Given the description of an element on the screen output the (x, y) to click on. 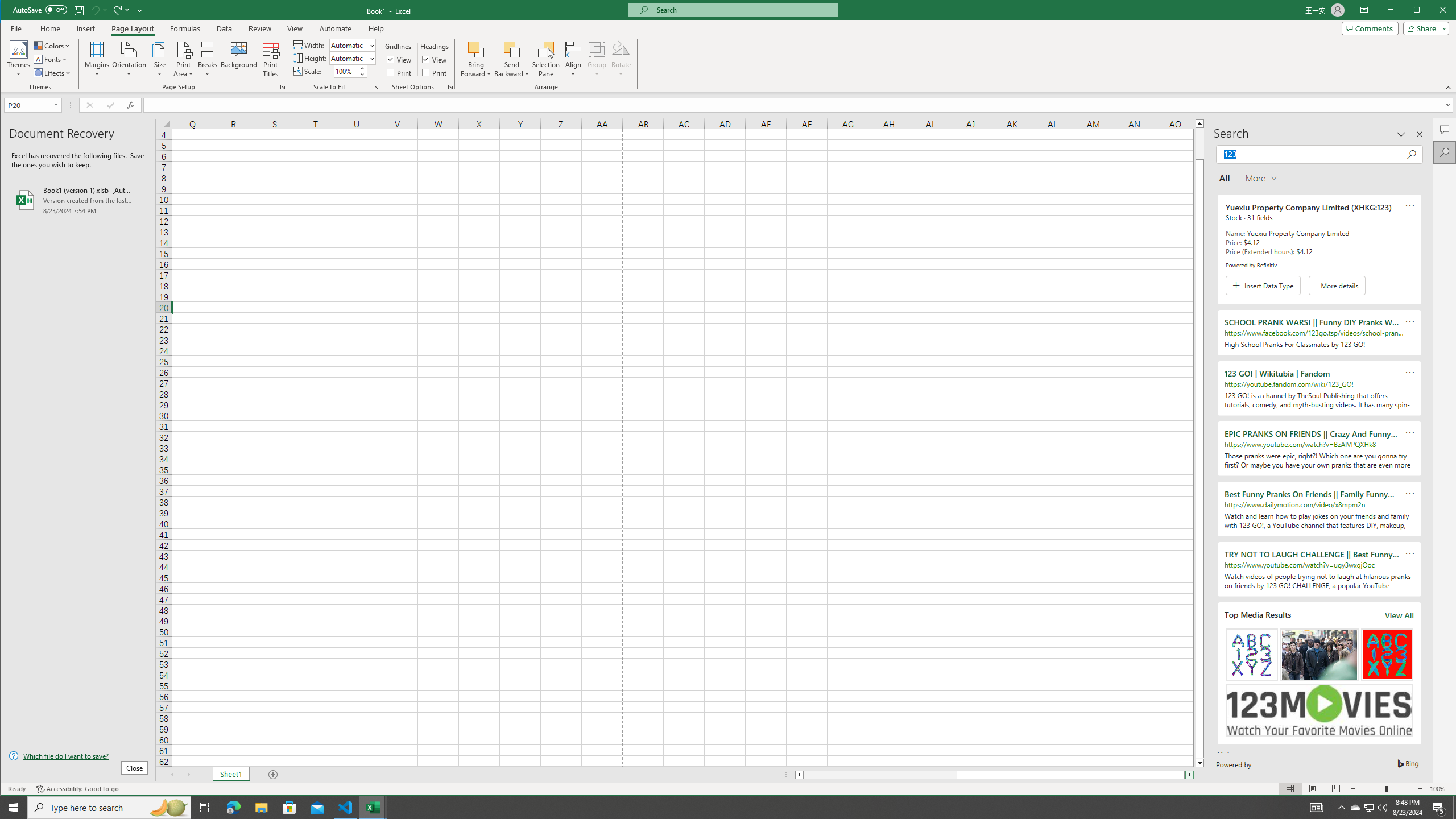
Print Titles (270, 59)
Selection Pane... (546, 59)
Page Break Preview (1355, 807)
Scroll Right (1335, 788)
Show desktop (188, 774)
Task View (1454, 807)
Excel - 2 running windows (204, 807)
Page up (1368, 807)
Less (373, 807)
Action Center, 5 new notifications (1199, 142)
Bring Forward (361, 73)
Fonts (1439, 807)
